Given the description of an element on the screen output the (x, y) to click on. 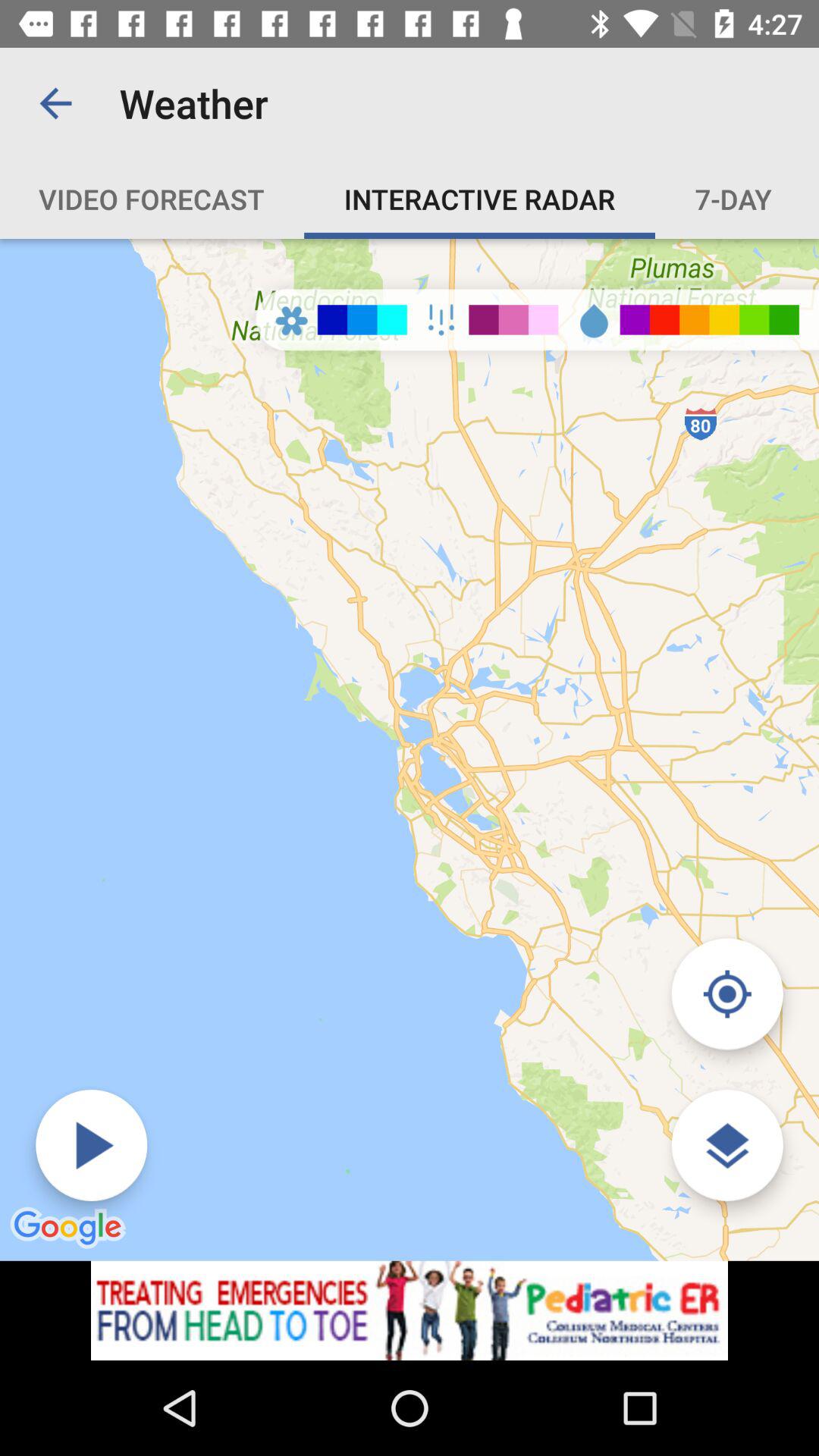
go to customize (727, 1145)
